Given the description of an element on the screen output the (x, y) to click on. 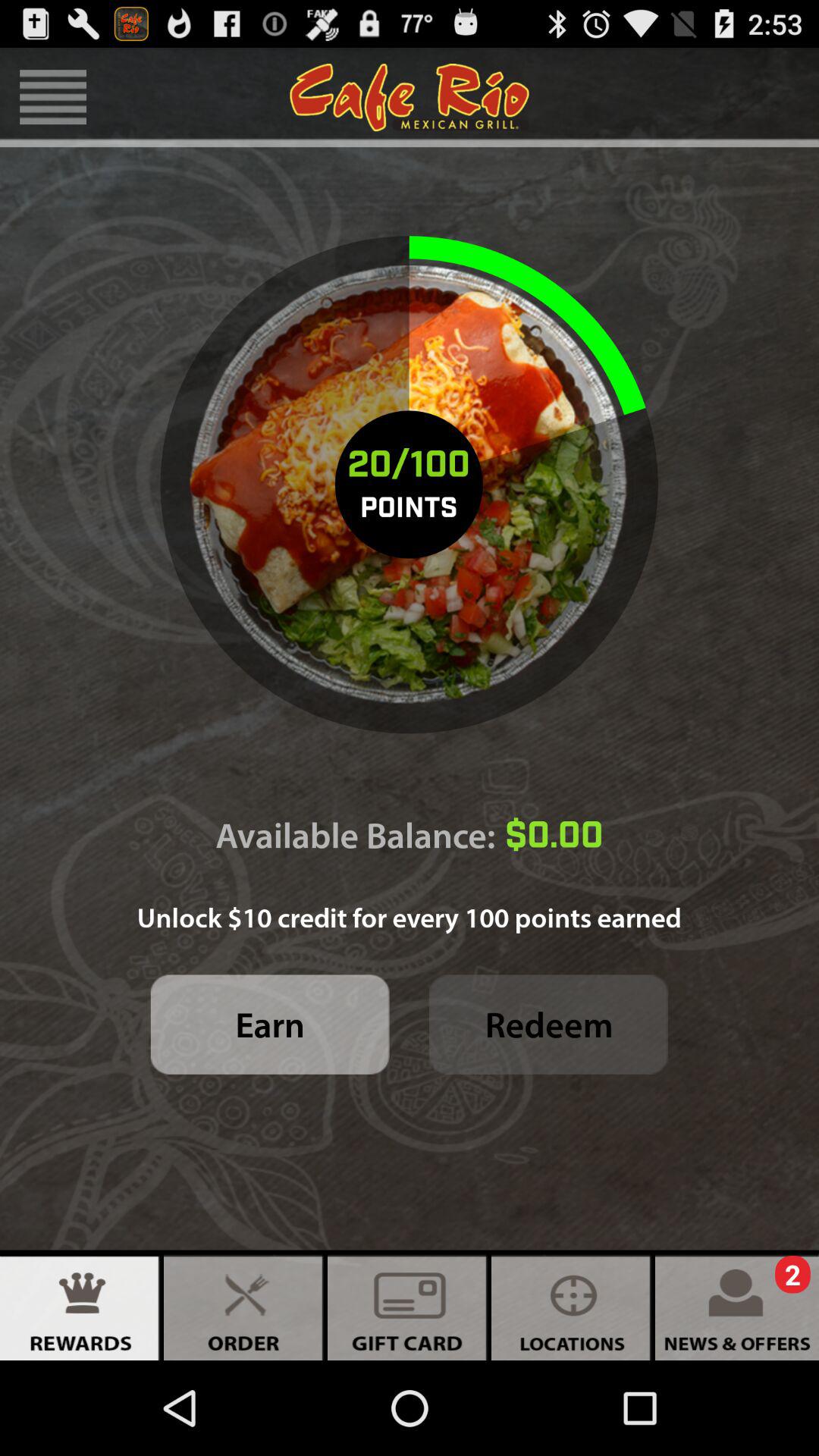
turn on icon at the top left corner (53, 96)
